Given the description of an element on the screen output the (x, y) to click on. 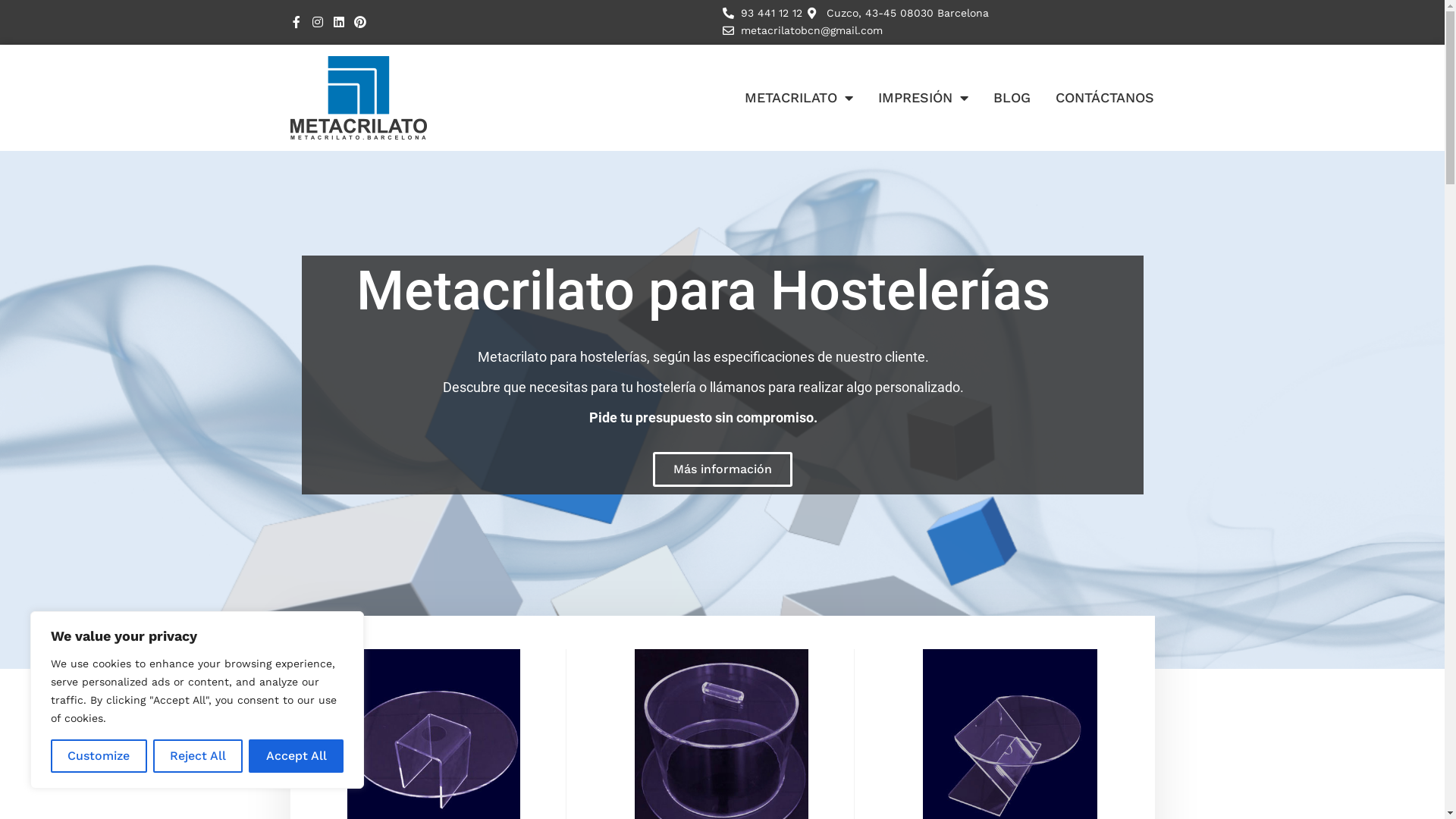
BLOG Element type: text (1010, 97)
93 441 12 12 Element type: text (761, 12)
Accept All Element type: text (295, 755)
logo Element type: hover (357, 97)
Customize Element type: text (98, 755)
Reject All Element type: text (198, 755)
METACRILATO Element type: text (798, 97)
